Given the description of an element on the screen output the (x, y) to click on. 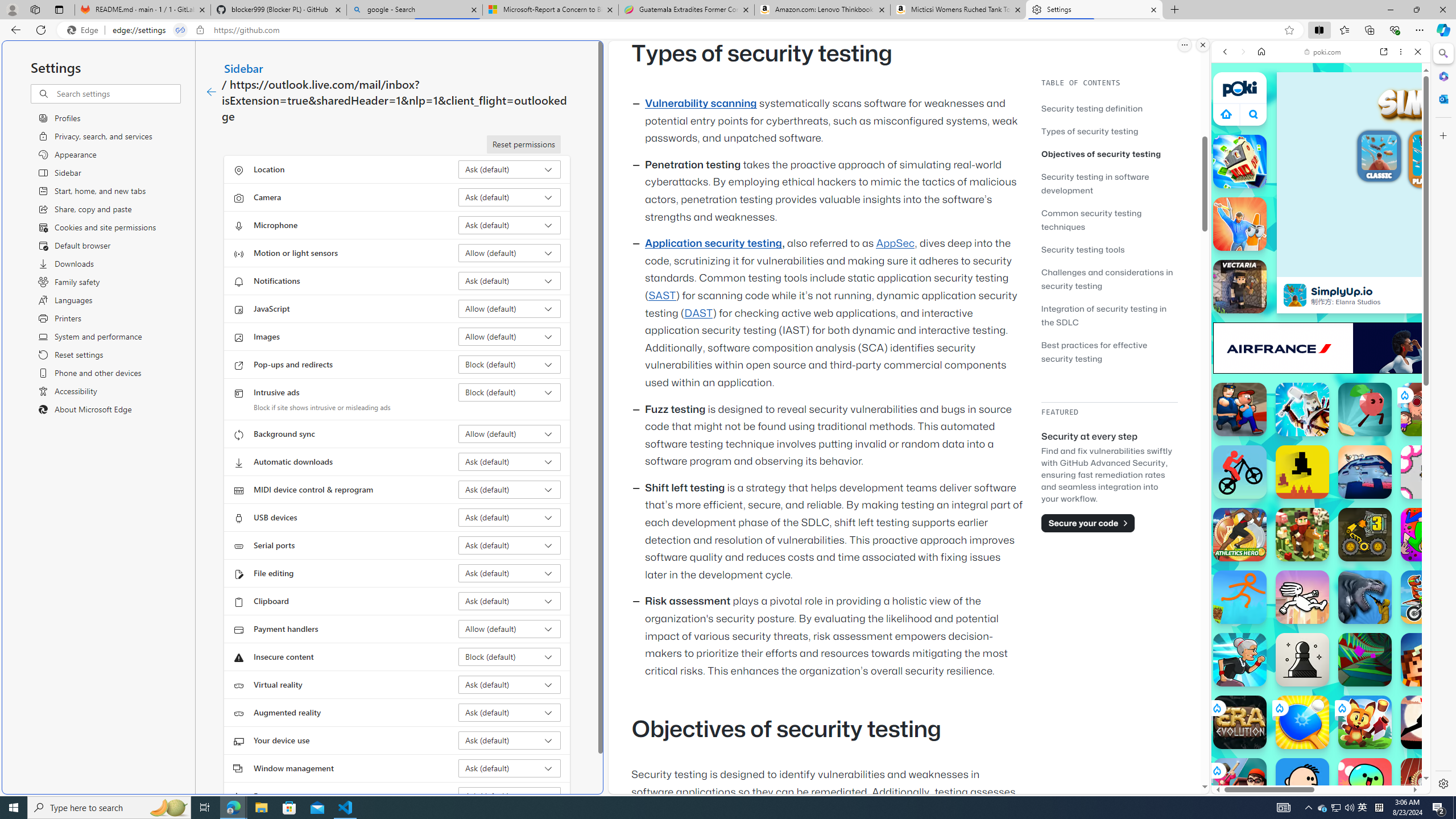
Eat the world Eat the world (1427, 409)
JavaScript Allow (default) (509, 308)
Class: rCs5cyEiqiTpYvt_VBCR (1216, 770)
Tunnel Rush Tunnel Rush (1364, 659)
